Given the description of an element on the screen output the (x, y) to click on. 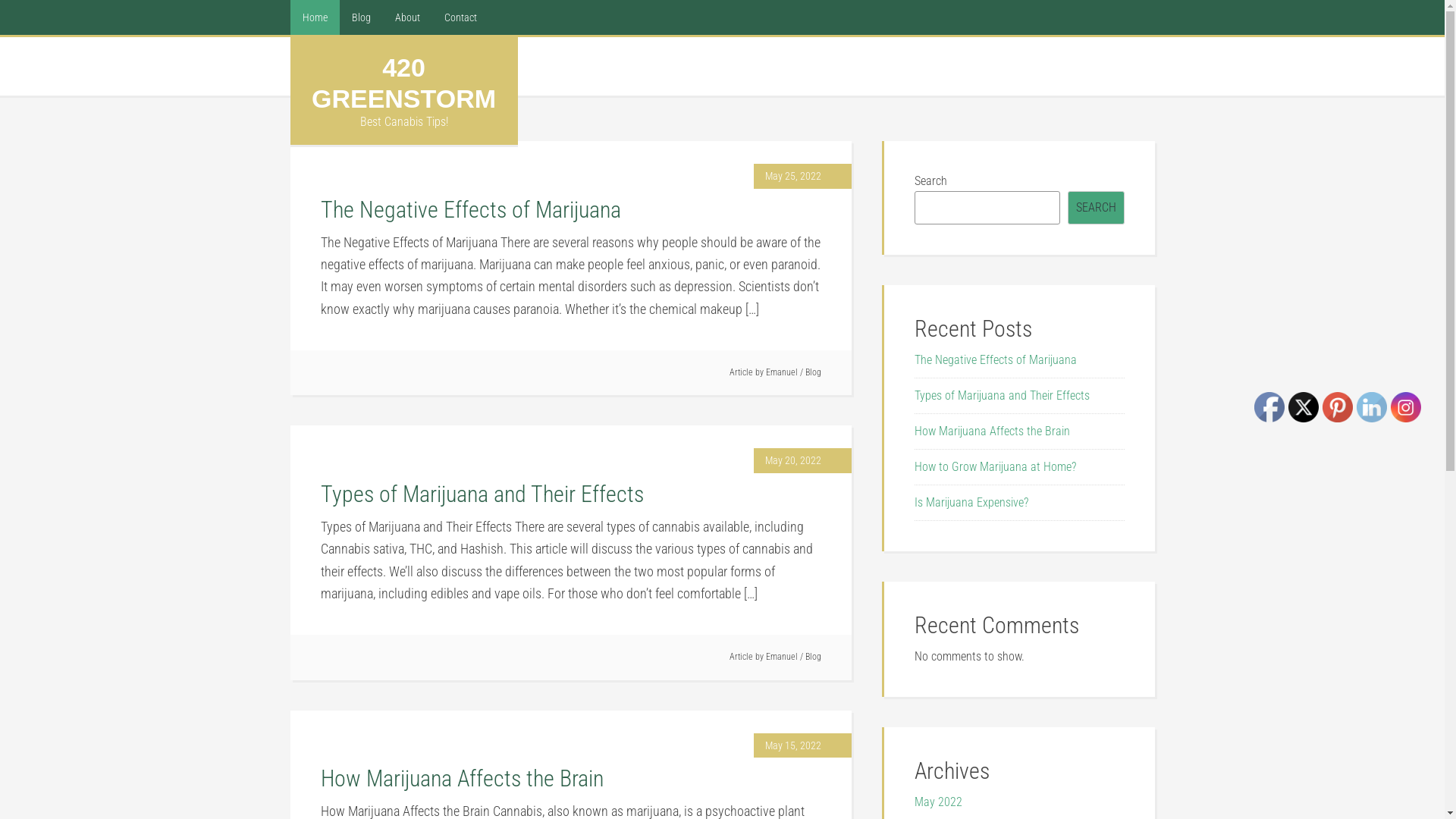
Pinterest Element type: hover (1337, 407)
Types of Marijuana and Their Effects Element type: text (1001, 395)
420 GREENSTORM Element type: text (403, 82)
Twitter Element type: hover (1303, 407)
Types of Marijuana and Their Effects Element type: text (481, 493)
About Element type: text (406, 17)
Contact Element type: text (460, 17)
How Marijuana Affects the Brain Element type: text (461, 778)
Emanuel Element type: text (781, 656)
SEARCH Element type: text (1095, 207)
Emanuel Element type: text (781, 372)
LinkedIn Element type: hover (1371, 407)
Home Element type: text (313, 17)
How Marijuana Affects the Brain Element type: text (992, 430)
The Negative Effects of Marijuana Element type: text (995, 359)
How to Grow Marijuana at Home? Element type: text (995, 466)
Instagram Element type: hover (1405, 407)
Facebook Element type: hover (1269, 407)
Blog Element type: text (360, 17)
Blog Element type: text (813, 656)
Blog Element type: text (813, 372)
The Negative Effects of Marijuana Element type: text (470, 209)
Is Marijuana Expensive? Element type: text (971, 502)
May 2022 Element type: text (938, 801)
